Given the description of an element on the screen output the (x, y) to click on. 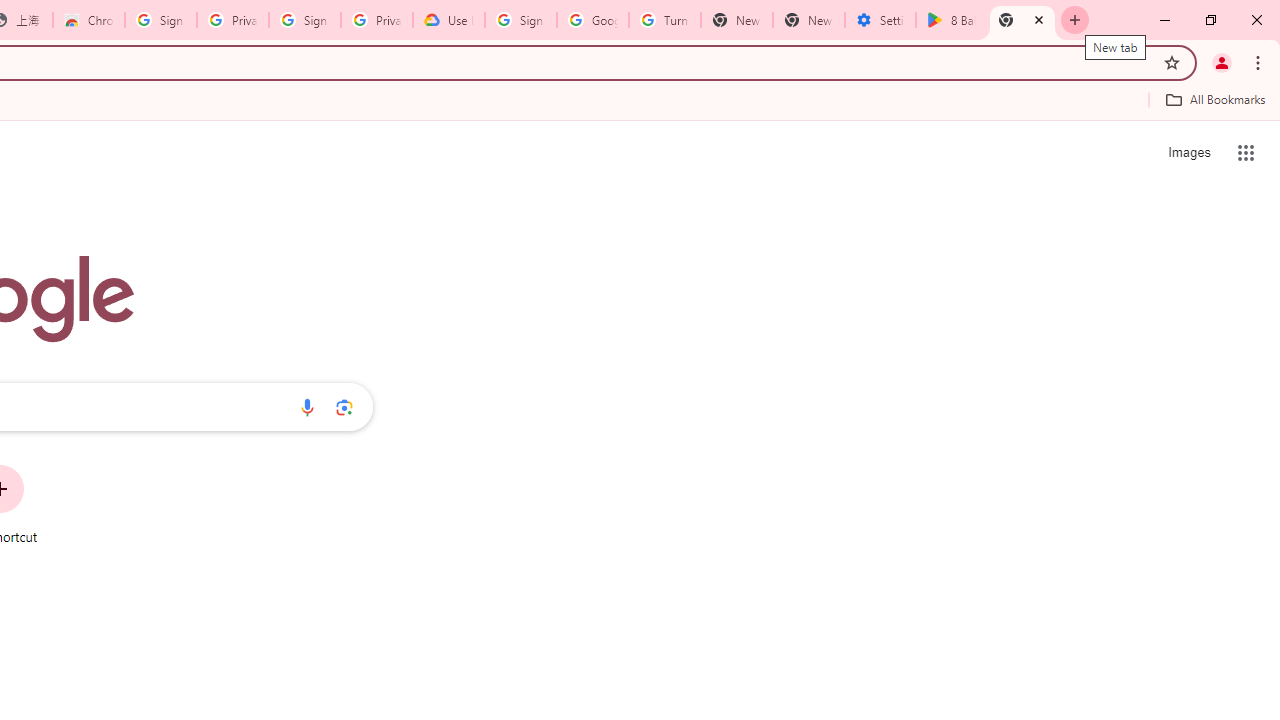
All Bookmarks (1215, 99)
New Tab (1022, 20)
Sign in - Google Accounts (520, 20)
Sign in - Google Accounts (304, 20)
Chrome Web Store - Color themes by Chrome (88, 20)
Sign in - Google Accounts (161, 20)
Google Account Help (592, 20)
Search for Images  (1188, 152)
